Given the description of an element on the screen output the (x, y) to click on. 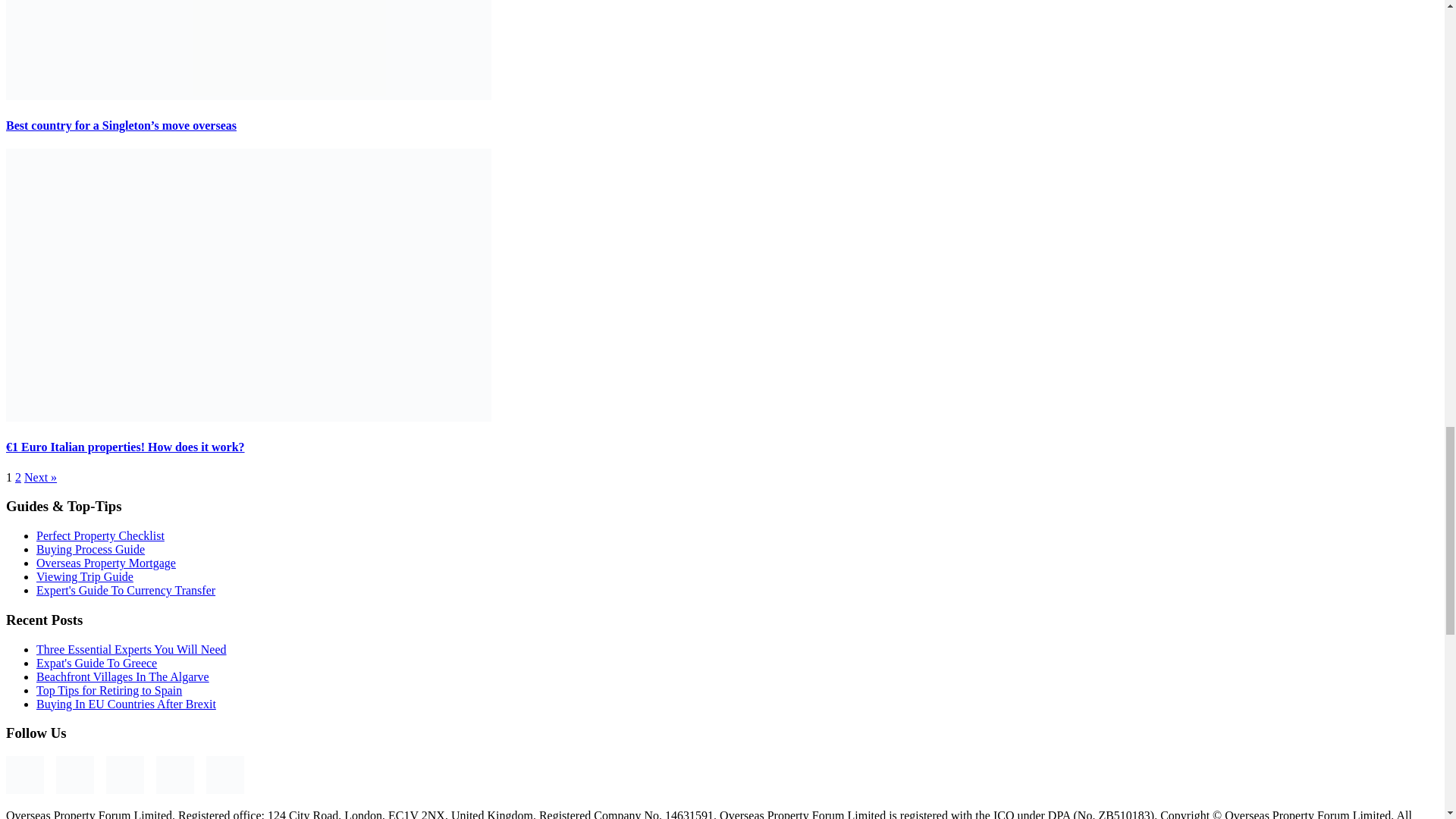
Linkedin (225, 774)
Pinterest (125, 774)
Facebook (24, 774)
Twitter (174, 774)
Instagram (75, 774)
